Given the description of an element on the screen output the (x, y) to click on. 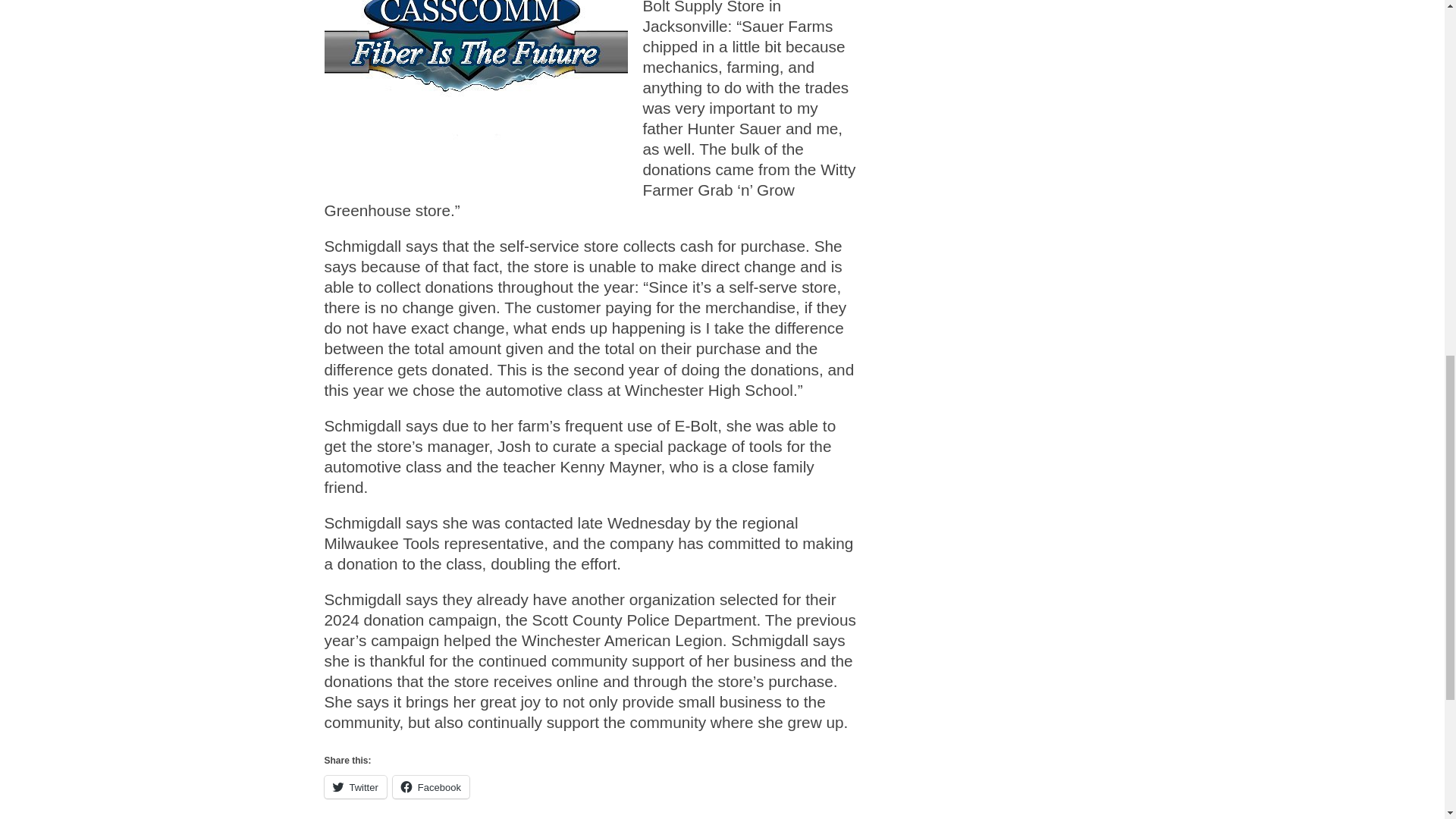
Click to share on Twitter (355, 786)
Twitter (355, 786)
Click to share on Facebook (430, 786)
Facebook (430, 786)
